Given the description of an element on the screen output the (x, y) to click on. 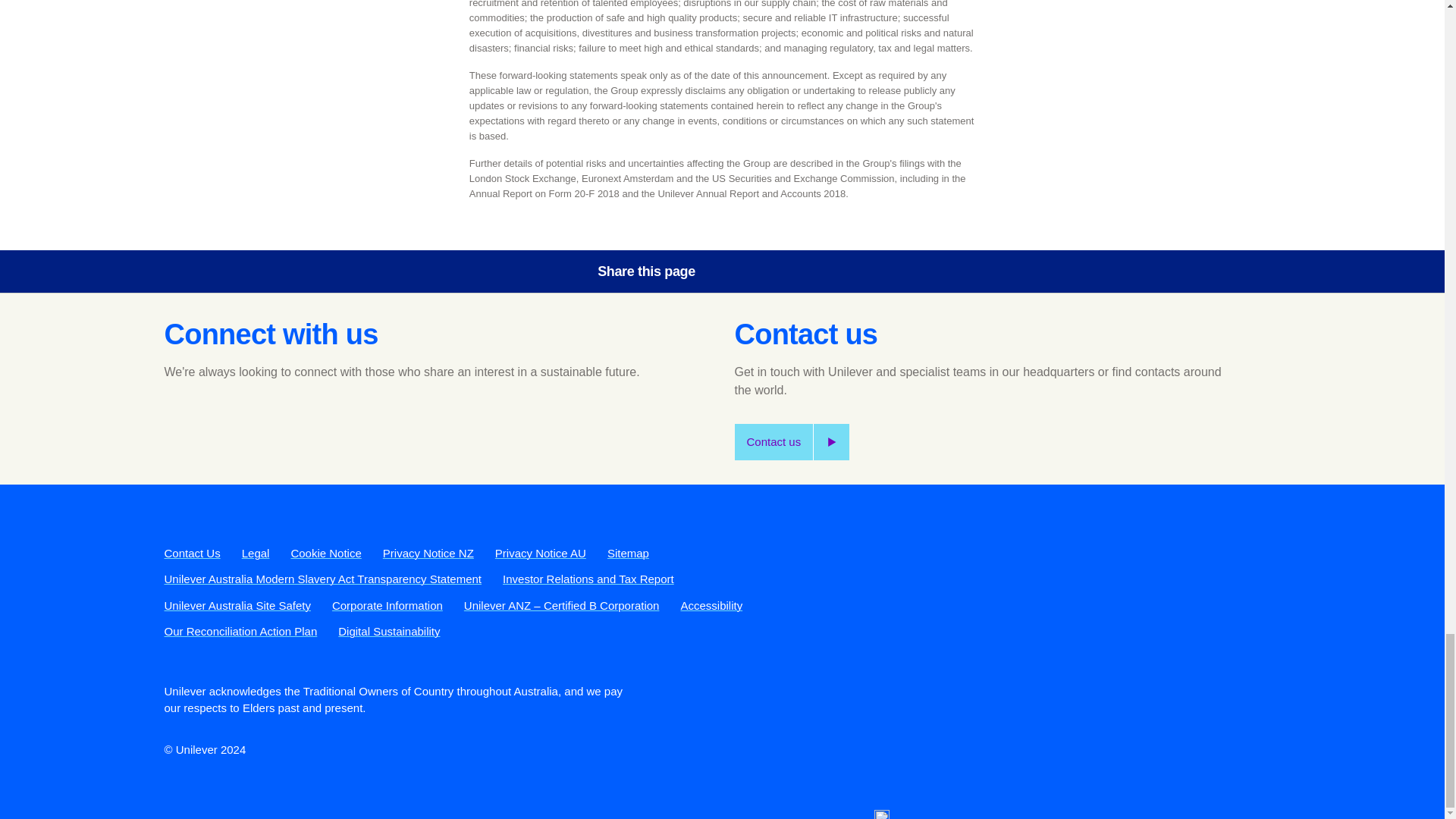
Share this page on Facebook (740, 271)
Share this page on E-mail (868, 271)
Share this page on X (782, 271)
Share this page on Linked In (825, 271)
